Given the description of an element on the screen output the (x, y) to click on. 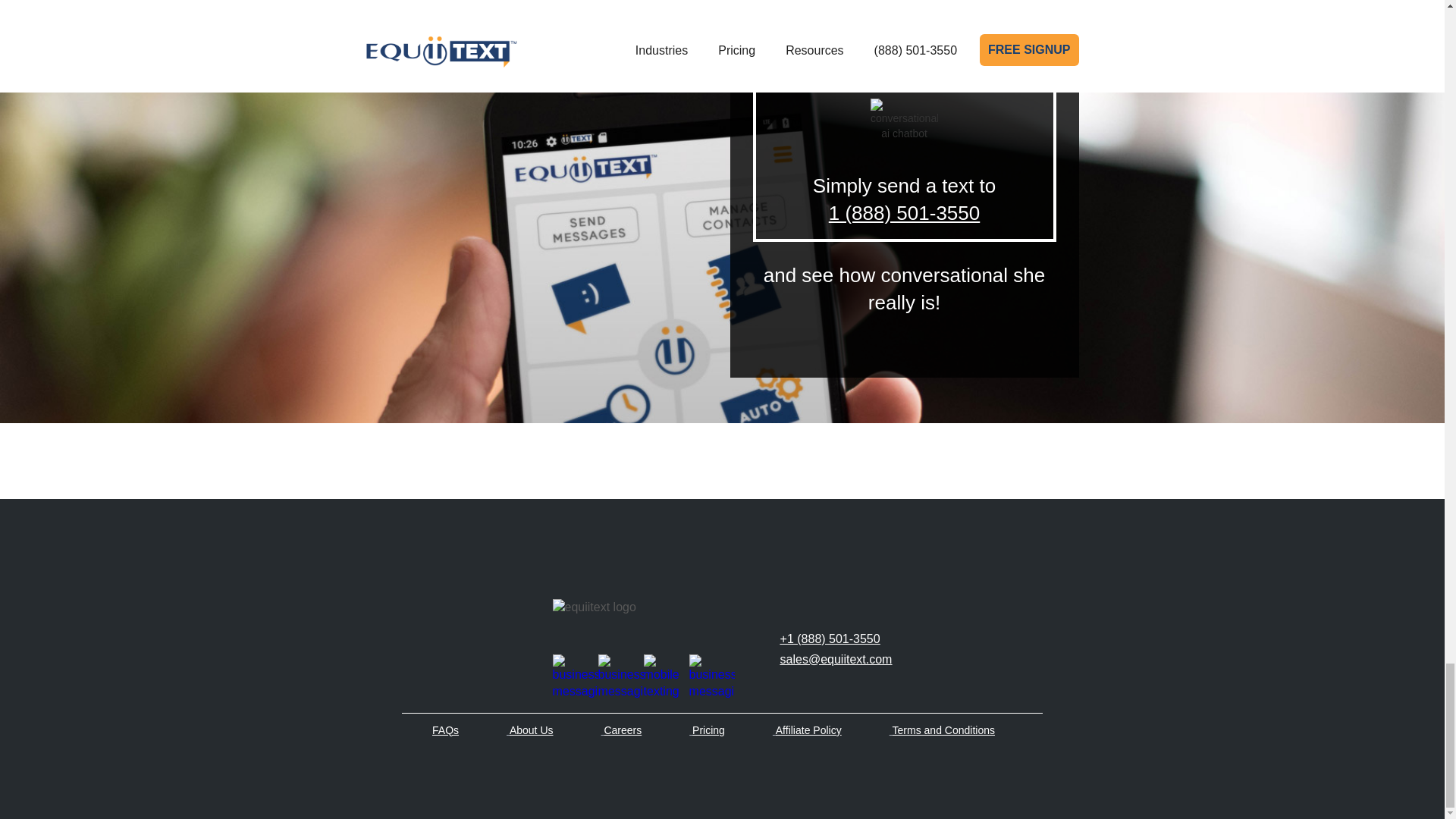
Create a free EquiiText account today (488, 11)
About Us (531, 729)
Affiliate Policy (808, 729)
Pricing (709, 729)
Terms and Conditions (943, 729)
FAQs (445, 729)
Careers (623, 729)
